Given the description of an element on the screen output the (x, y) to click on. 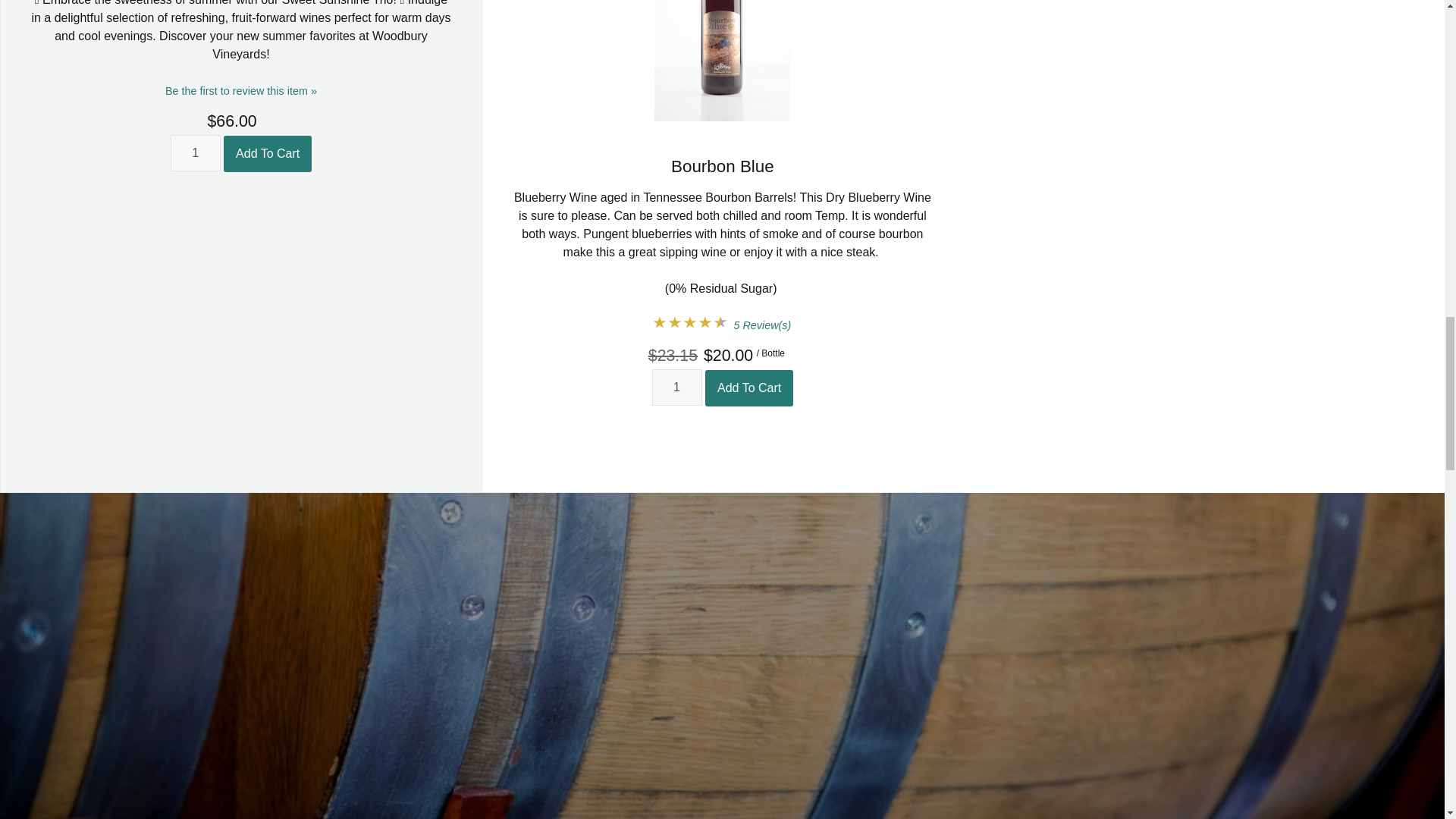
1 (195, 153)
1 (676, 387)
